Given the description of an element on the screen output the (x, y) to click on. 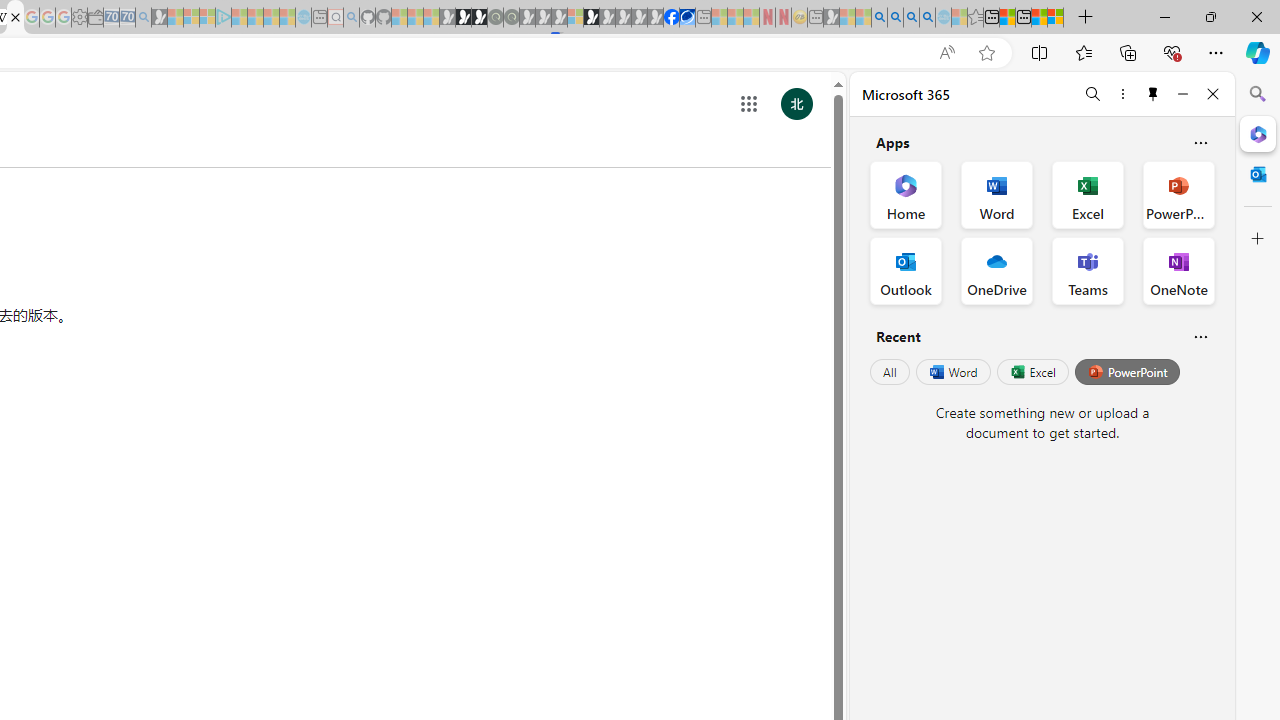
Microsoft Start - Sleeping (271, 17)
OneDrive Office App (996, 270)
MSN - Sleeping (831, 17)
PowerPoint (1127, 372)
OneNote Office App (1178, 270)
Bing AI - Search (879, 17)
Excel Office App (1087, 194)
2009 Bing officially replaced Live Search on June 3 - Search (895, 17)
